Given the description of an element on the screen output the (x, y) to click on. 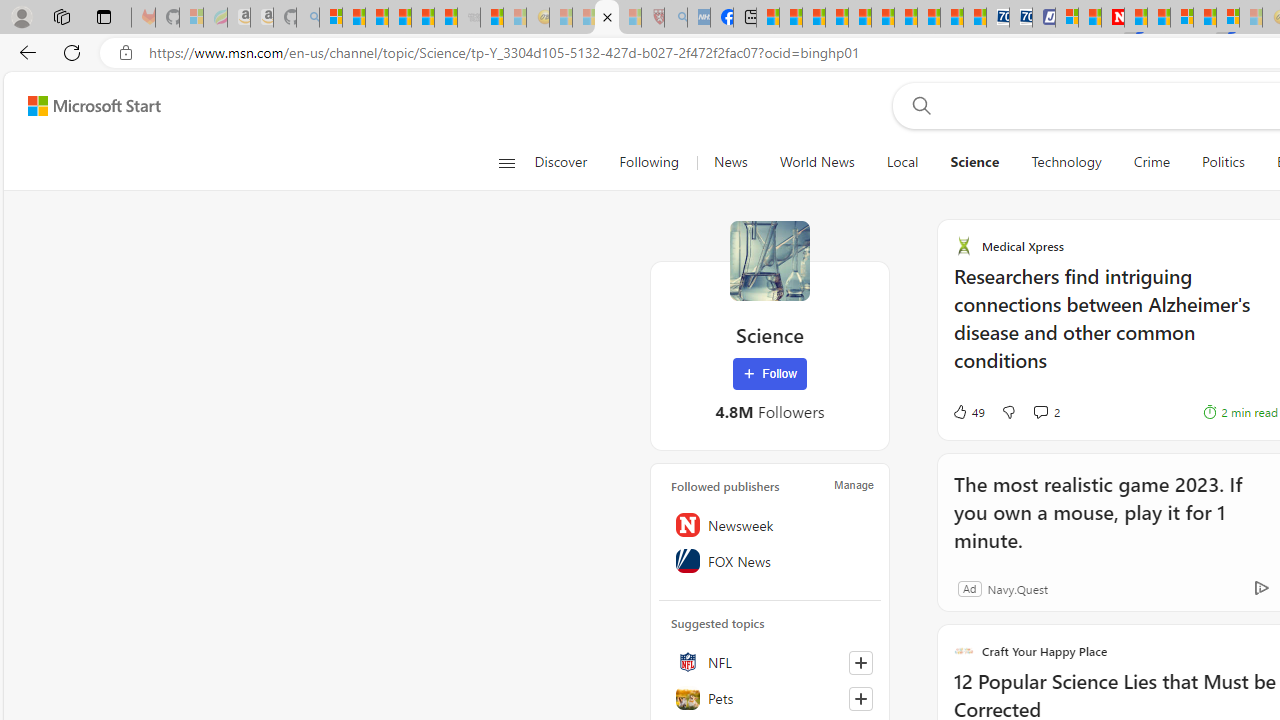
Climate Damage Becomes Too Severe To Reverse (836, 17)
12 Popular Science Lies that Must be Corrected - Sleeping (630, 17)
